Given the description of an element on the screen output the (x, y) to click on. 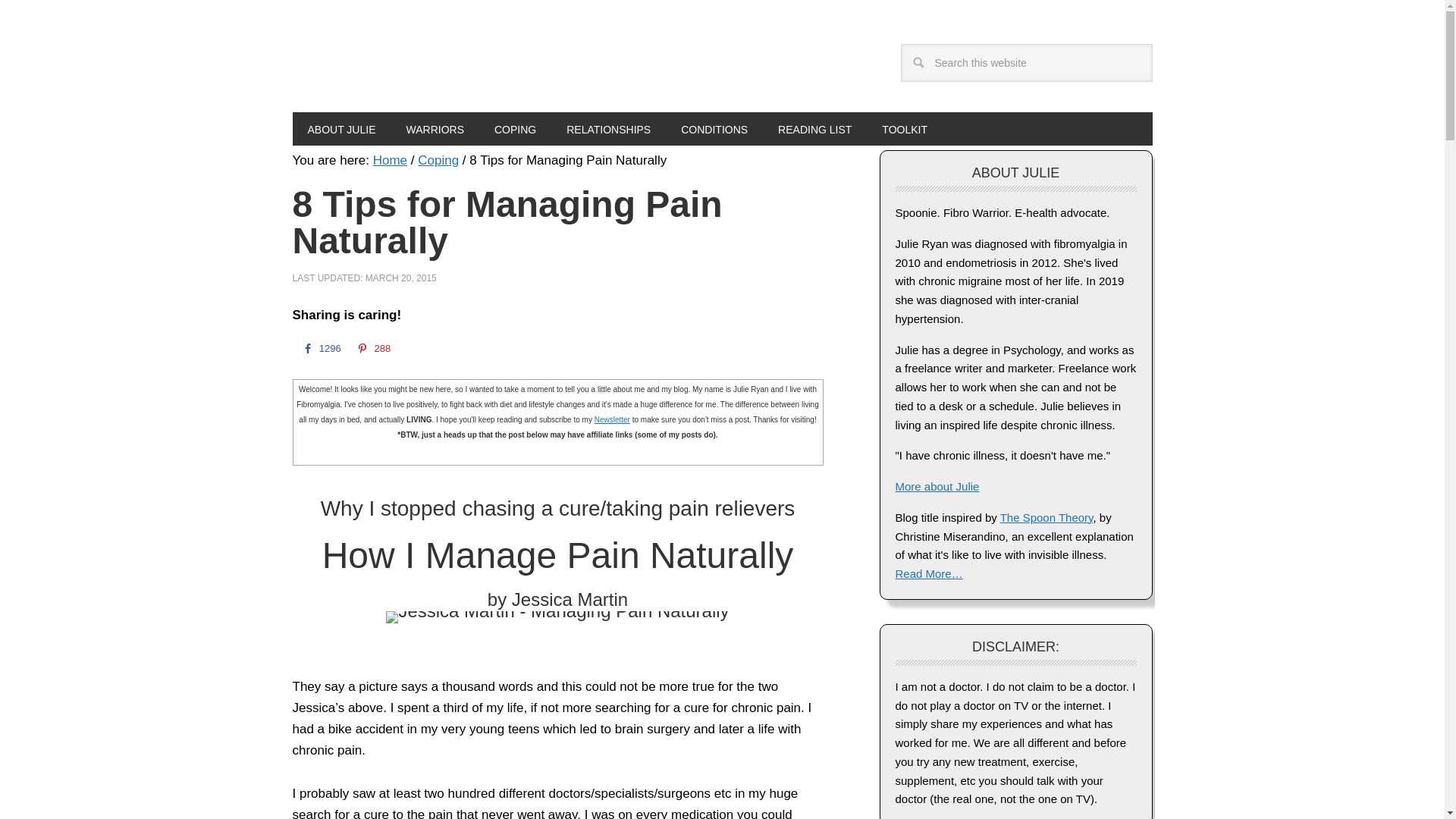
COPING (515, 128)
Share on Facebook (319, 348)
READING LIST (814, 128)
Newsletter (612, 419)
TOOLKIT (904, 128)
RELATIONSHIPS (608, 128)
Home (389, 160)
COUNTING MY SPOONS (417, 69)
1296 (319, 348)
ABOUT JULIE (341, 128)
Coping (437, 160)
CONDITIONS (713, 128)
